Given the description of an element on the screen output the (x, y) to click on. 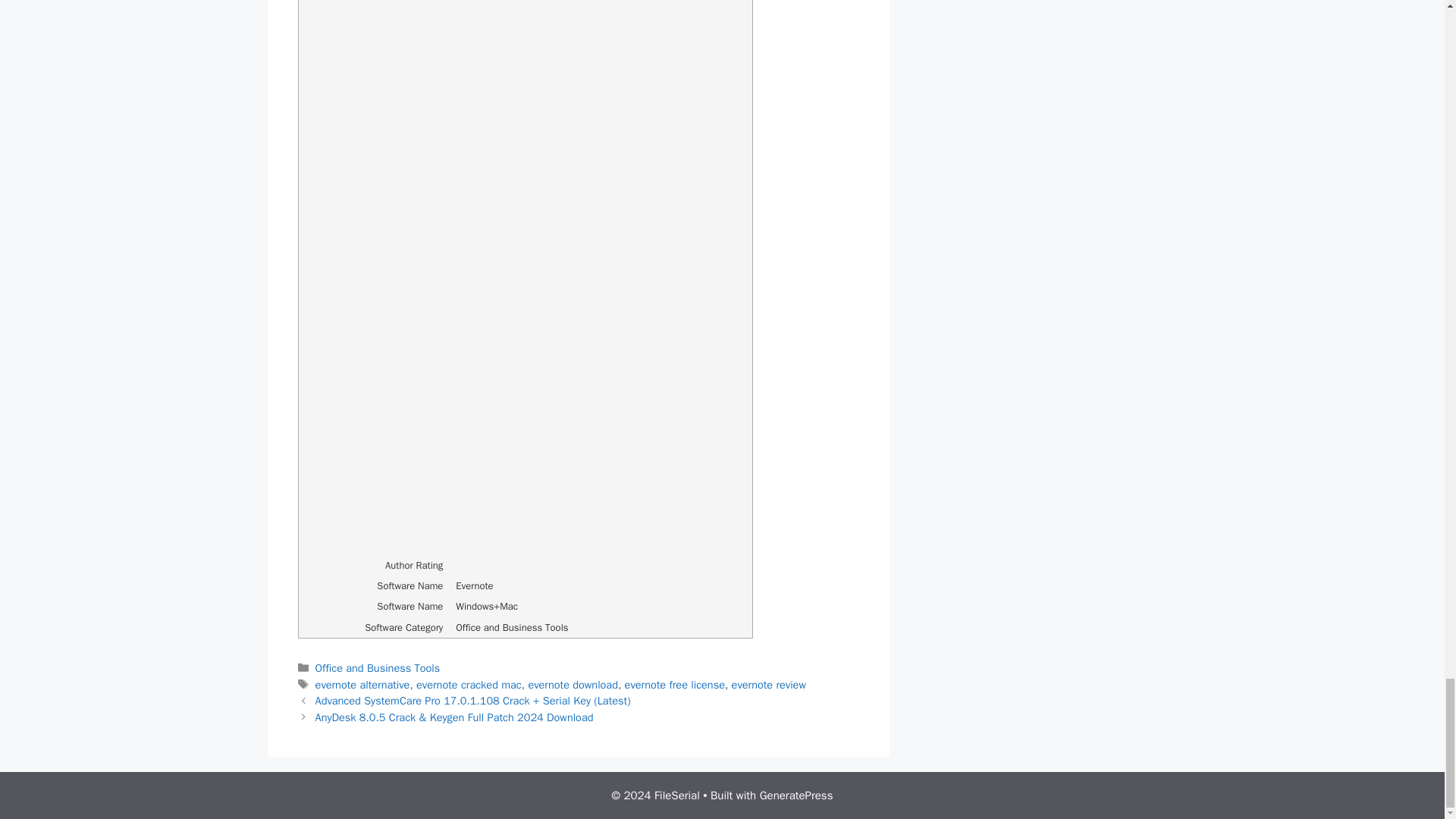
evernote alternative (362, 684)
evernote free license (674, 684)
evernote download (572, 684)
evernote review (769, 684)
Office and Business Tools (378, 667)
evernote cracked mac (468, 684)
